Given the description of an element on the screen output the (x, y) to click on. 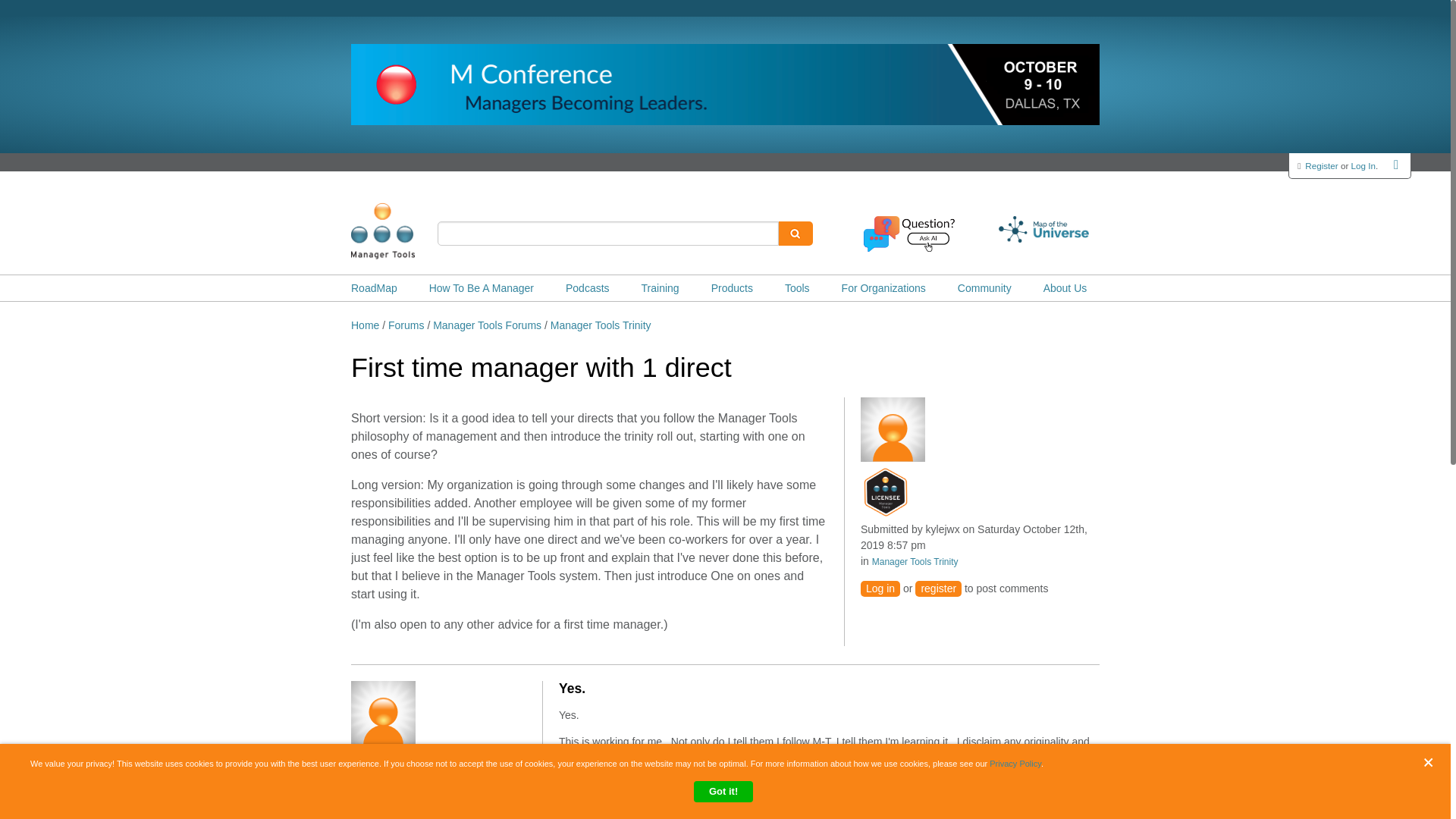
Close (1431, 762)
Podcasts (588, 288)
Register (1321, 165)
Got it! (723, 791)
RoadMap (373, 288)
Home (406, 231)
How To Be A Manager (481, 288)
Privacy Policy (1015, 763)
Training (660, 288)
Search (795, 233)
Enter the terms you wish to search for. (608, 233)
Log In (1363, 165)
About Cookie Control (37, 769)
About Cookie Control (37, 769)
Search (795, 233)
